Given the description of an element on the screen output the (x, y) to click on. 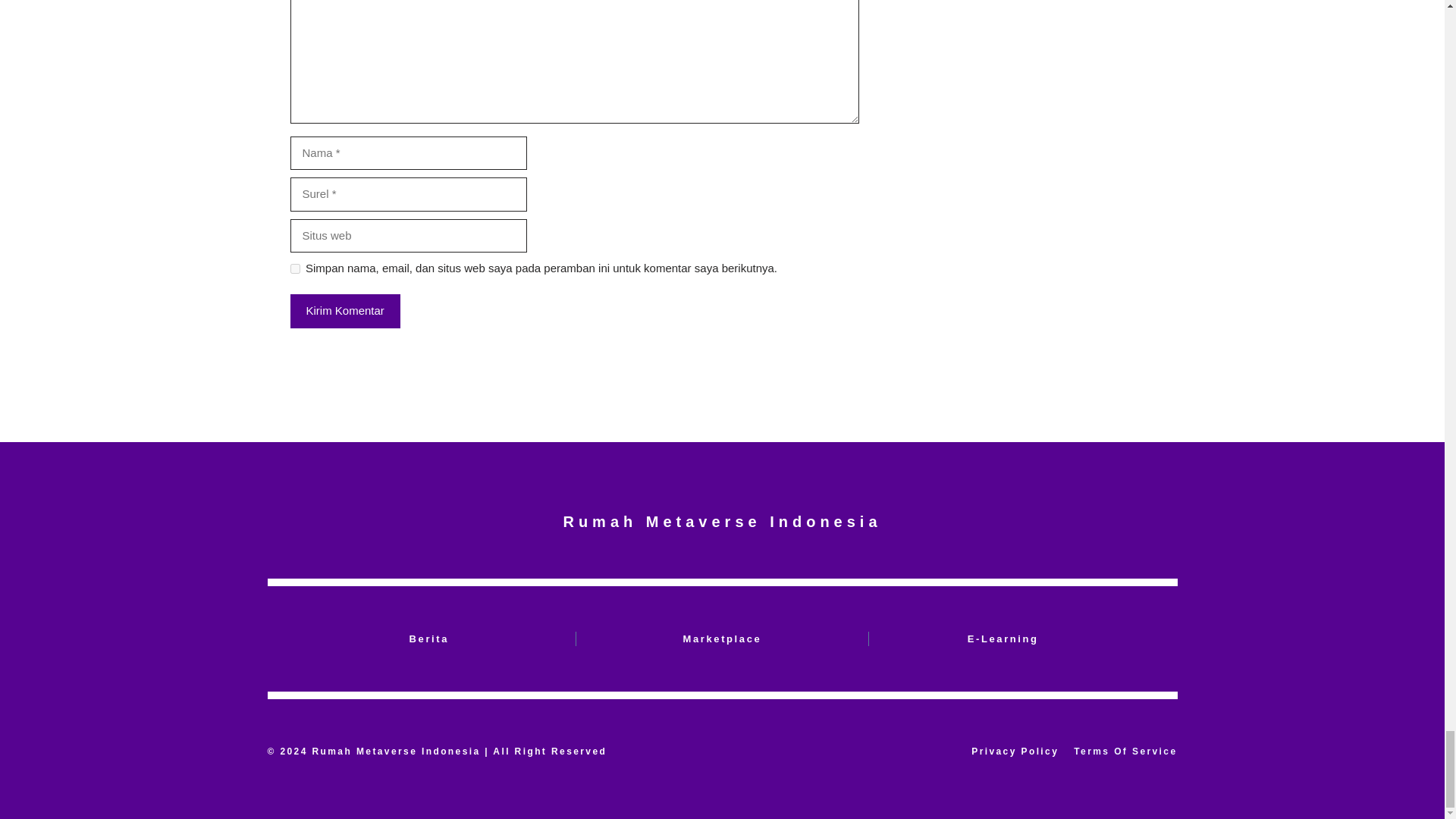
Kirim Komentar (343, 311)
yes (294, 268)
Kirim Komentar (343, 311)
